Given the description of an element on the screen output the (x, y) to click on. 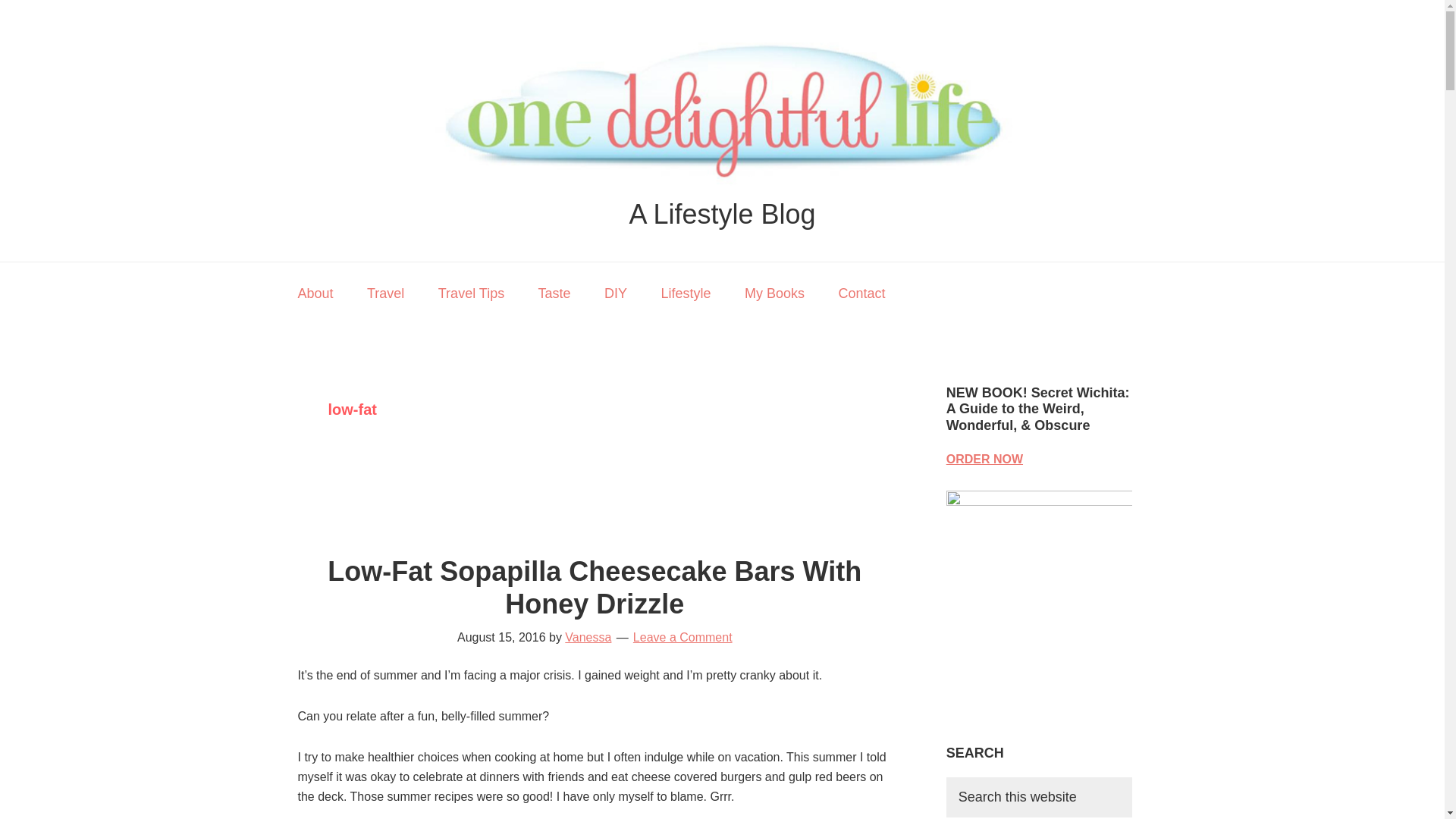
Travel Tips (471, 293)
Travel (385, 293)
About (314, 293)
Taste (554, 293)
